Given the description of an element on the screen output the (x, y) to click on. 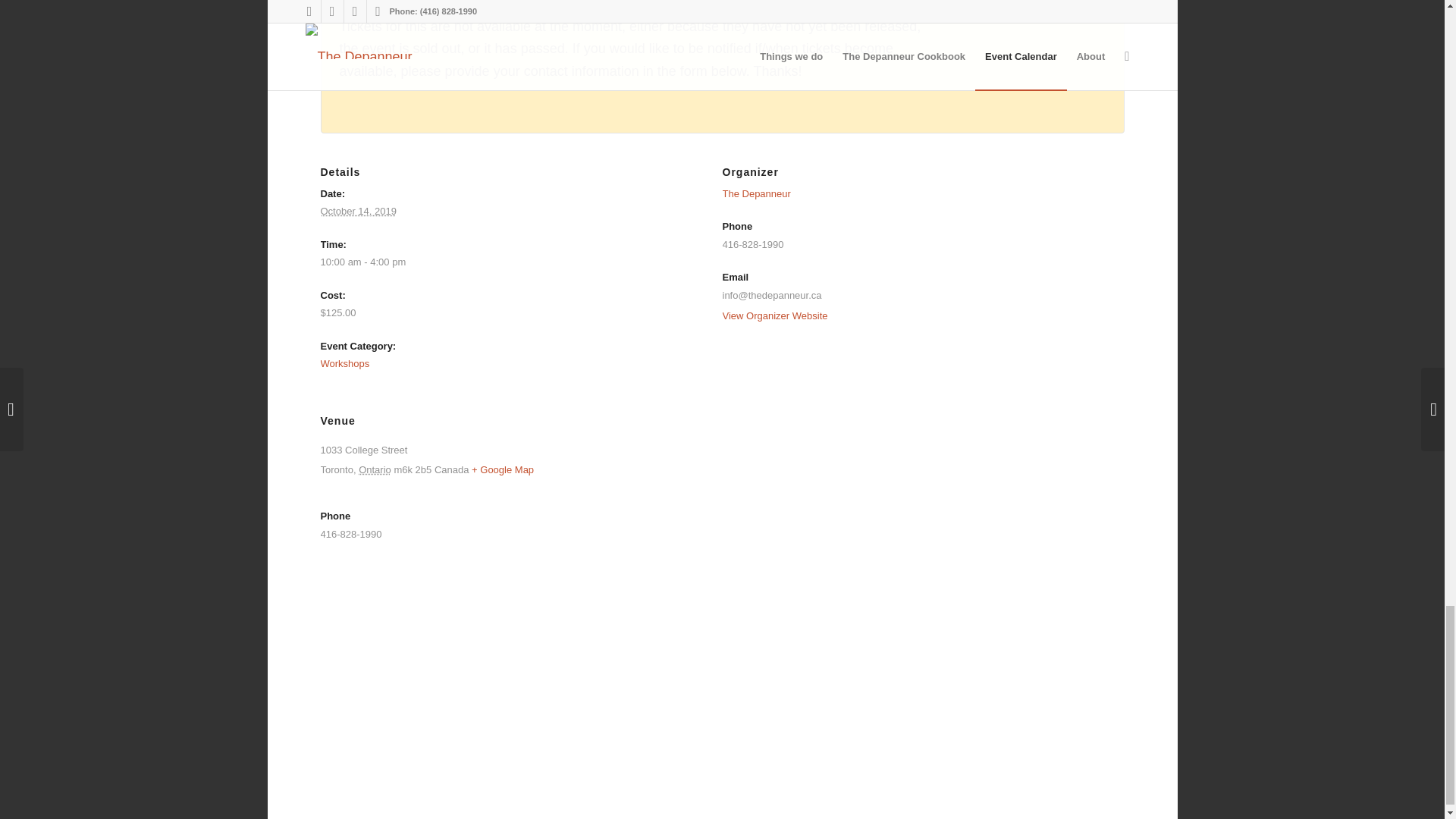
2019-10-14 (358, 211)
2019-10-14 (505, 262)
View Organizer Website (774, 315)
Workshops (344, 363)
The Depanneur (756, 193)
Click to view a Google Map (502, 469)
The Depanneur (756, 193)
